Given the description of an element on the screen output the (x, y) to click on. 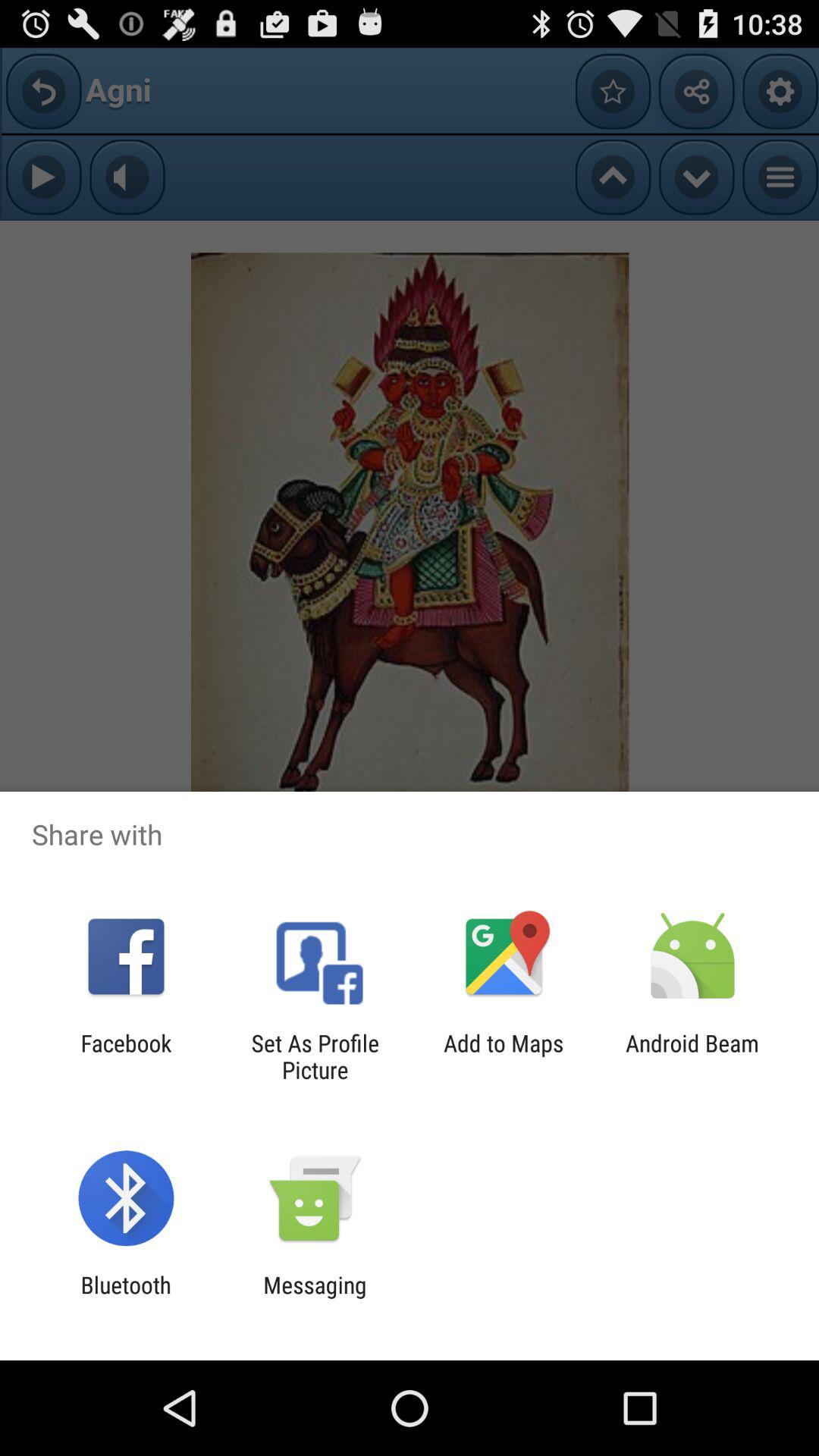
tap the item next to the set as profile app (125, 1056)
